Given the description of an element on the screen output the (x, y) to click on. 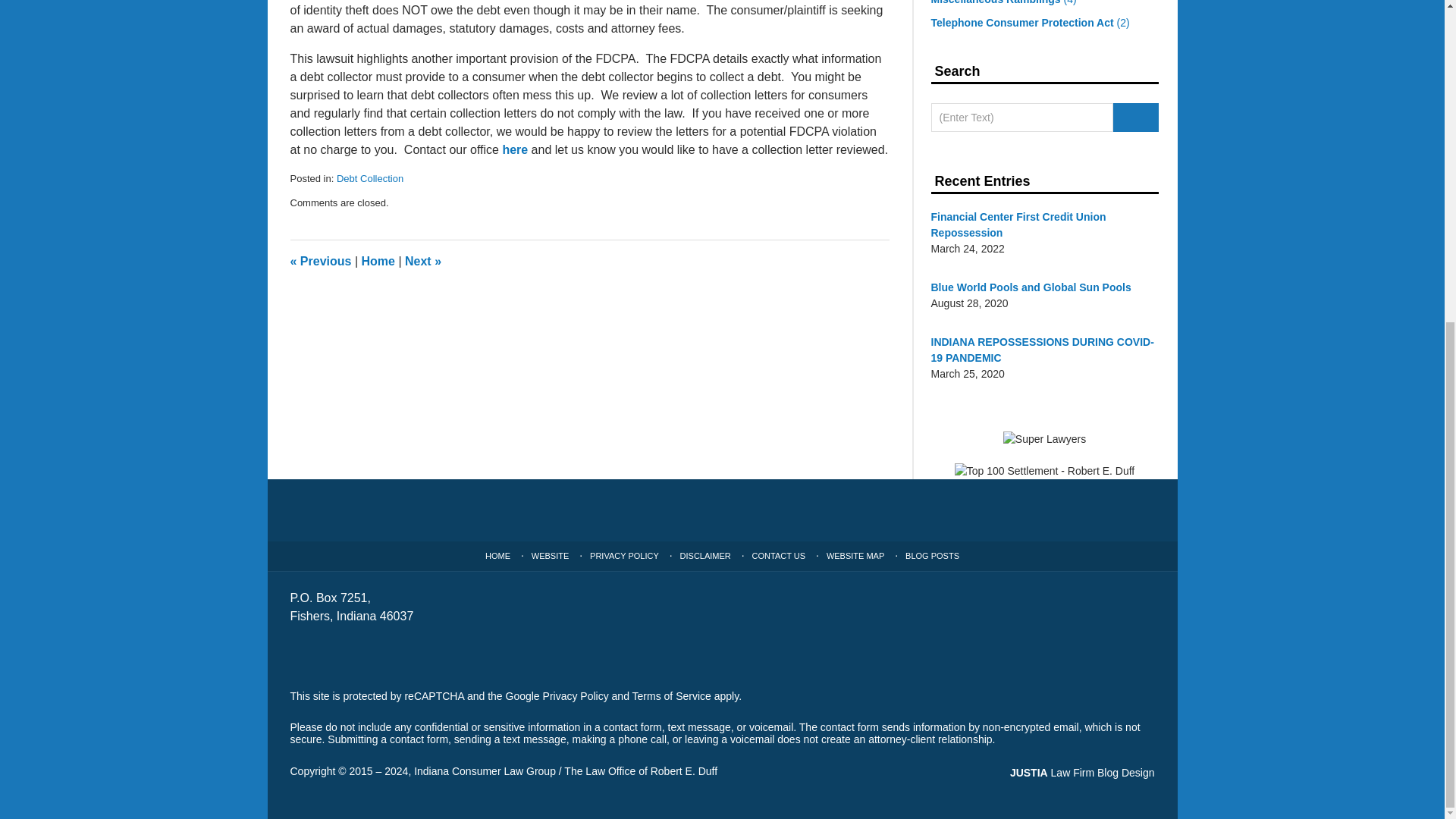
Debt Collection (369, 178)
SEARCH (1135, 117)
Financial Center First Credit Union Repossession (1044, 224)
here (514, 149)
View all posts in Debt Collection (369, 178)
Home (377, 260)
